Given the description of an element on the screen output the (x, y) to click on. 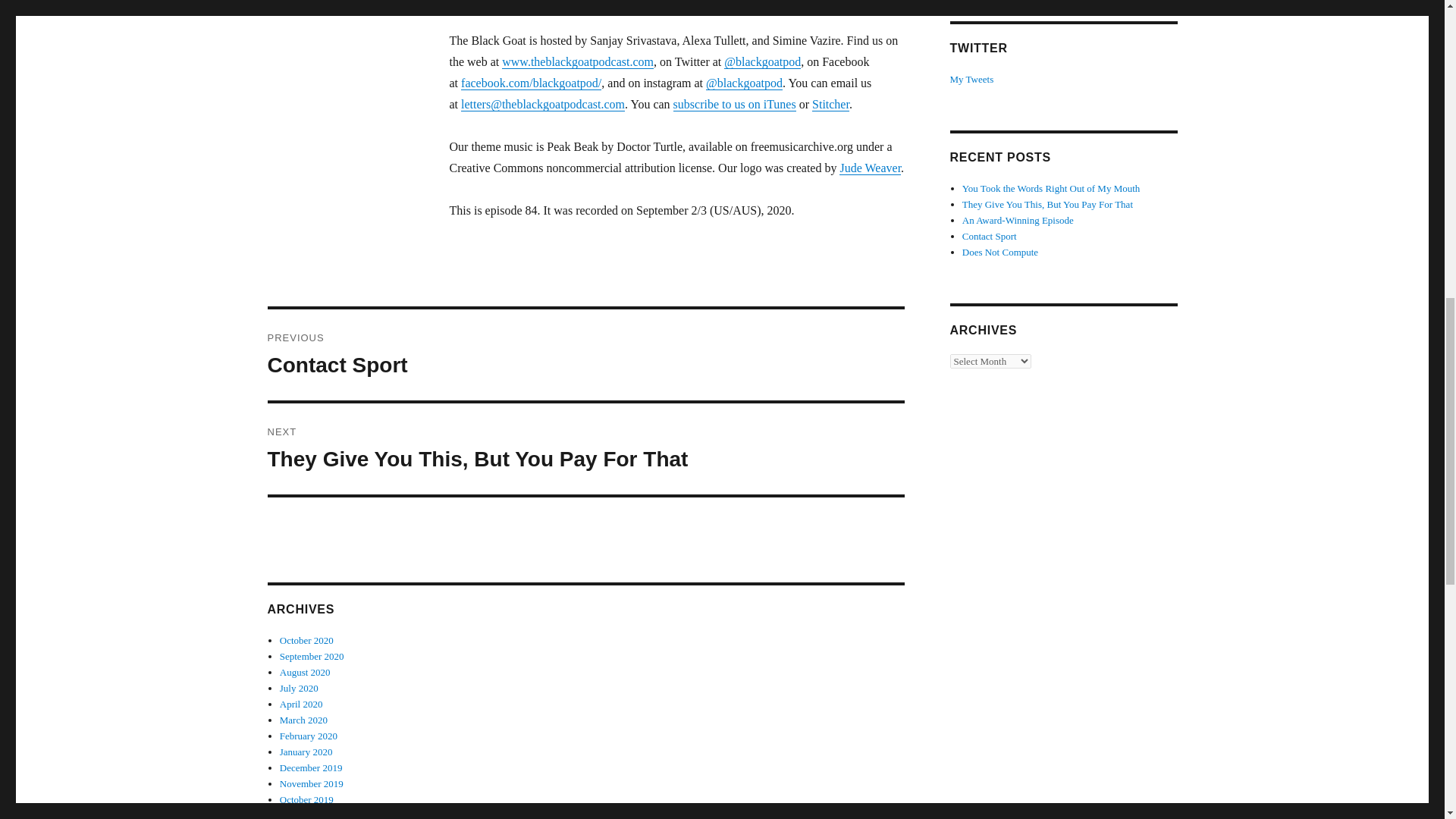
subscribe to us on iTunes (734, 103)
April 2020 (301, 704)
August 2020 (304, 672)
October 2019 (306, 799)
December 2019 (585, 354)
January 2020 (310, 767)
October 2020 (585, 448)
September 2019 (306, 751)
